Given the description of an element on the screen output the (x, y) to click on. 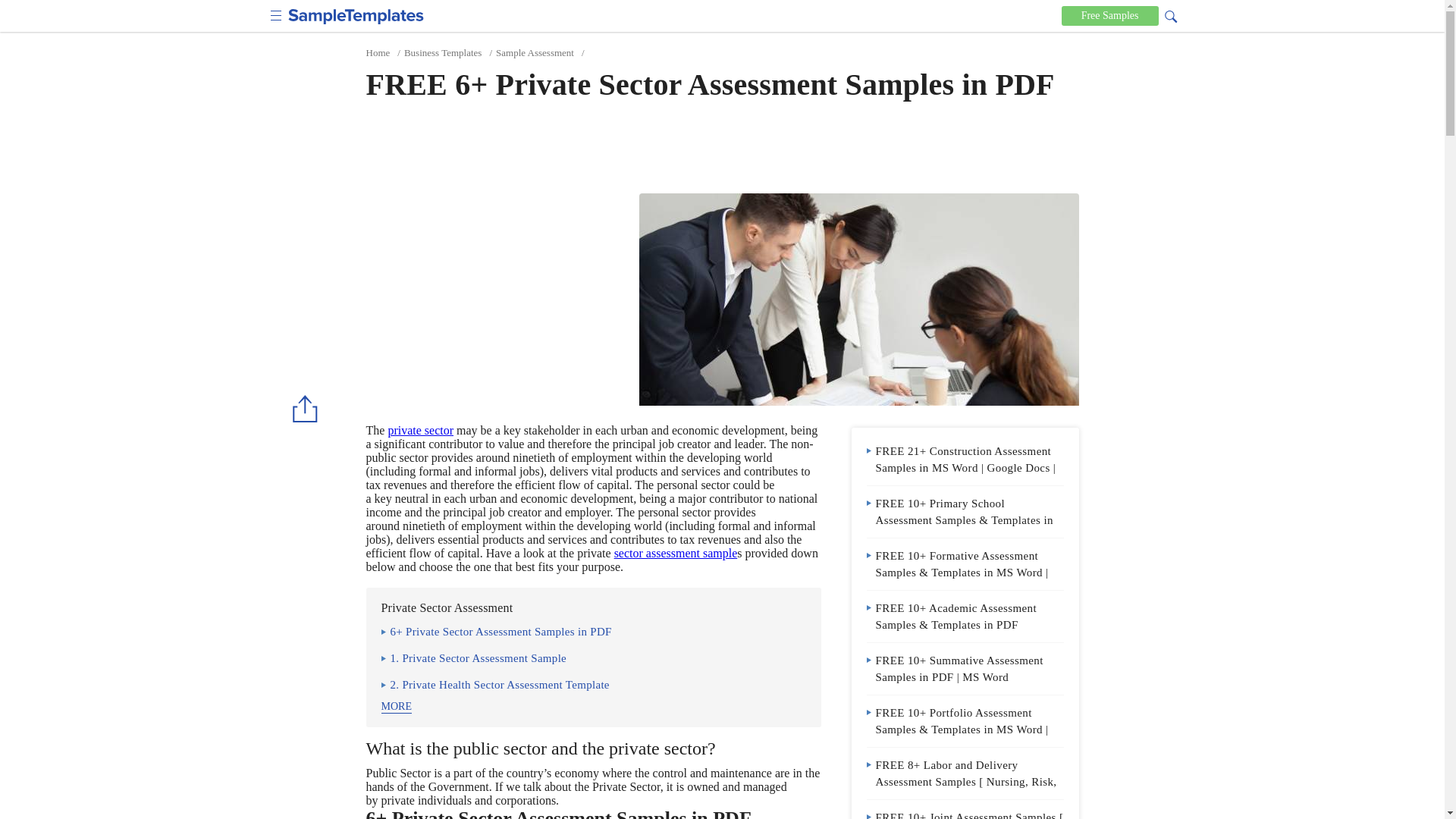
Private Sector Assessment   (858, 299)
sector assessment sample (676, 553)
Free Samples (1109, 15)
Home (377, 52)
1. Private Sector Assessment Sample (473, 660)
2. Private Health Sector Assessment Template (494, 685)
private sector (419, 430)
Sample Assessment (534, 52)
Business Templates (442, 52)
Home (377, 52)
